Given the description of an element on the screen output the (x, y) to click on. 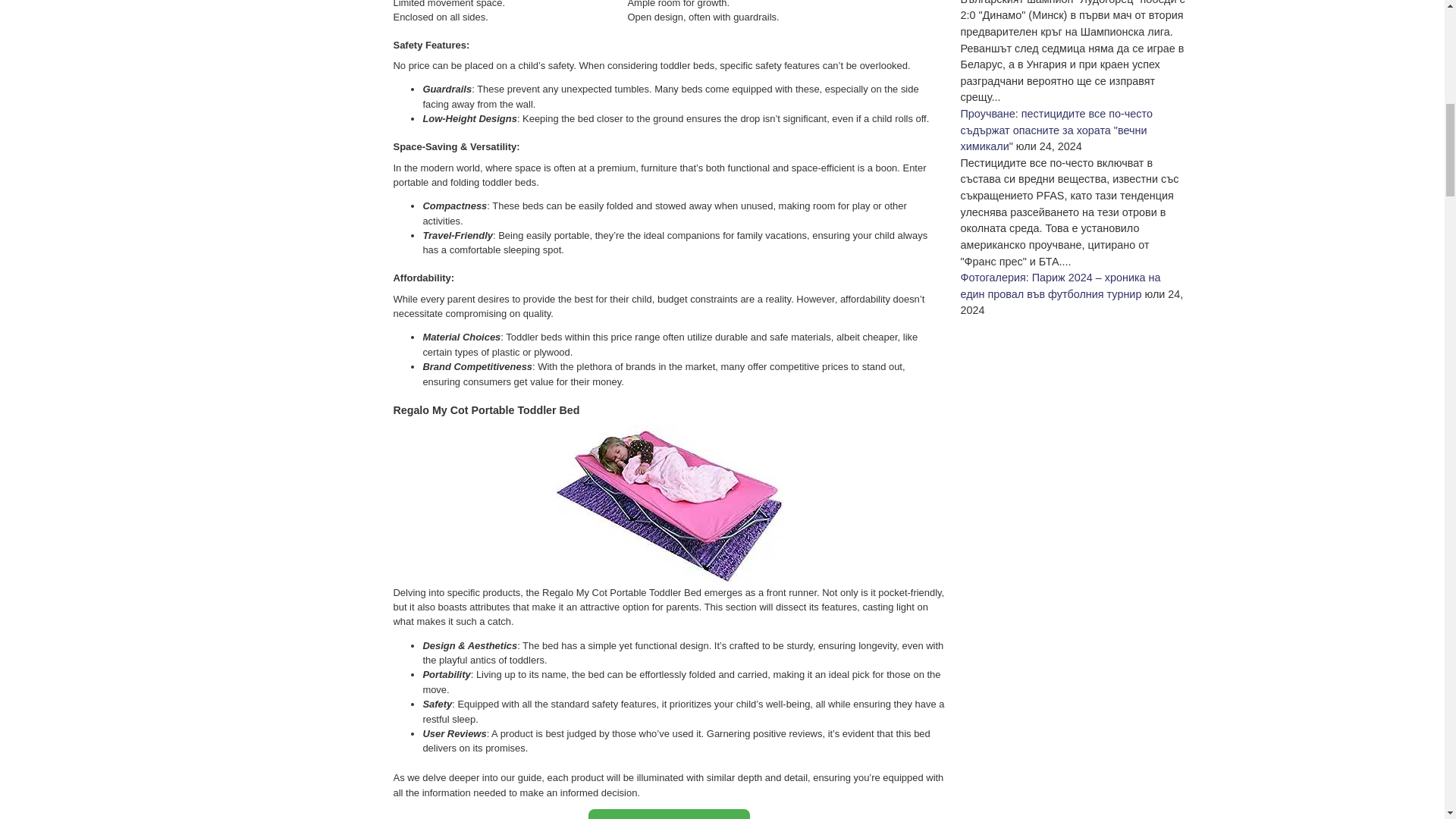
See the actual price here! (669, 814)
